Given the description of an element on the screen output the (x, y) to click on. 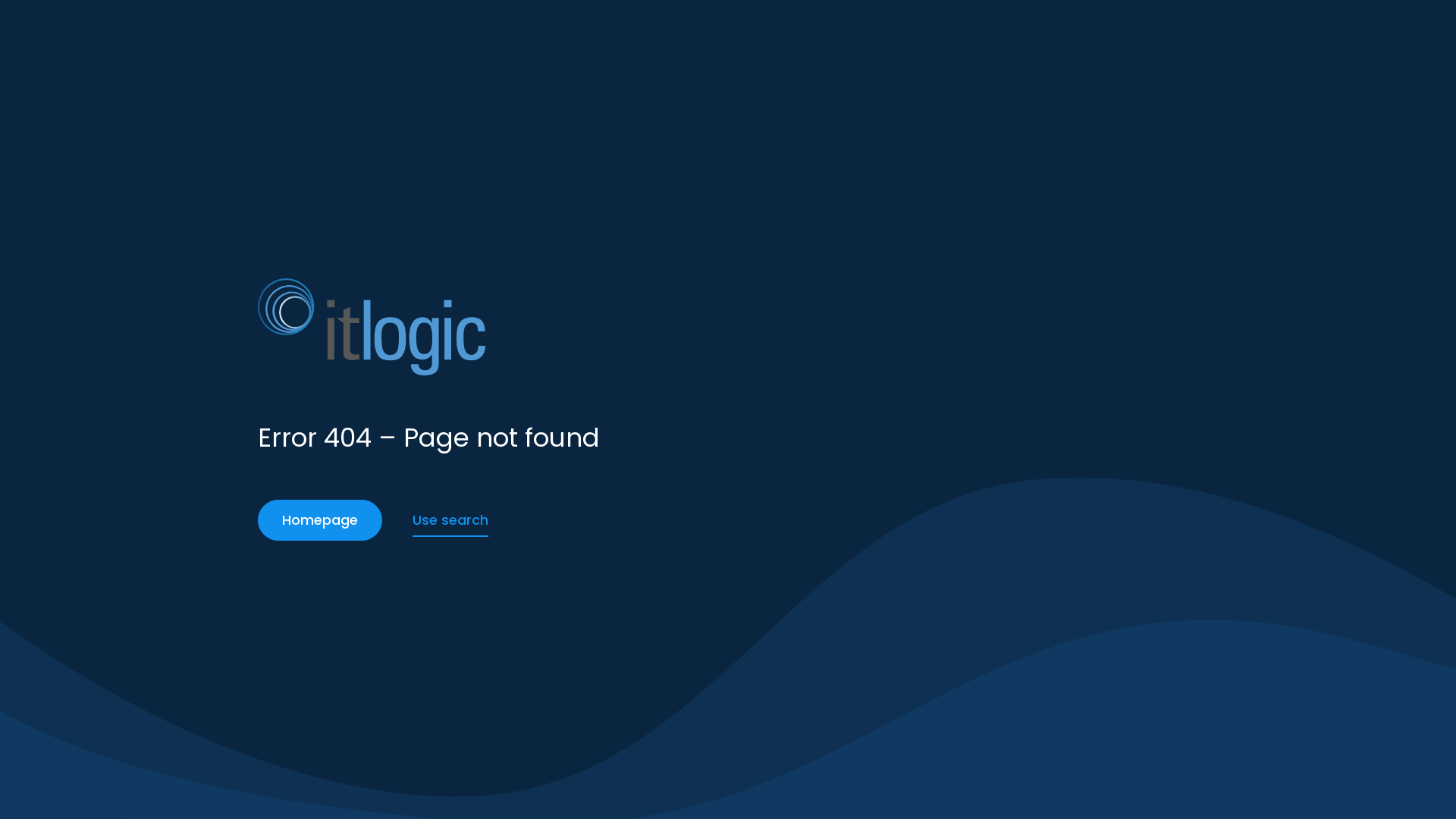
Use search Element type: text (450, 519)
Homepage Element type: text (319, 519)
